Given the description of an element on the screen output the (x, y) to click on. 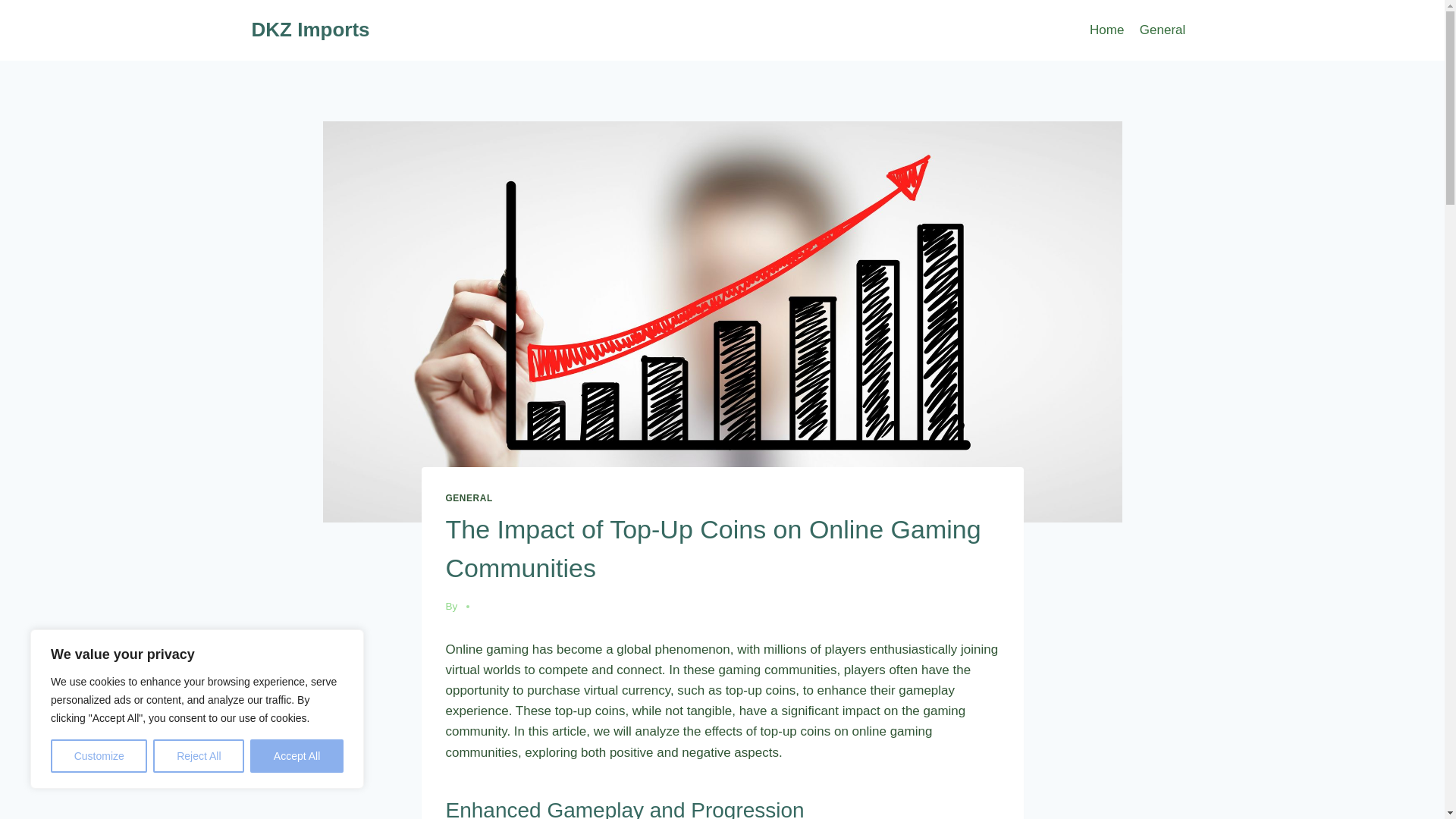
Accept All (296, 756)
Home (1106, 30)
Customize (98, 756)
Reject All (198, 756)
General (1162, 30)
GENERAL (469, 498)
DKZ Imports (310, 29)
